Given the description of an element on the screen output the (x, y) to click on. 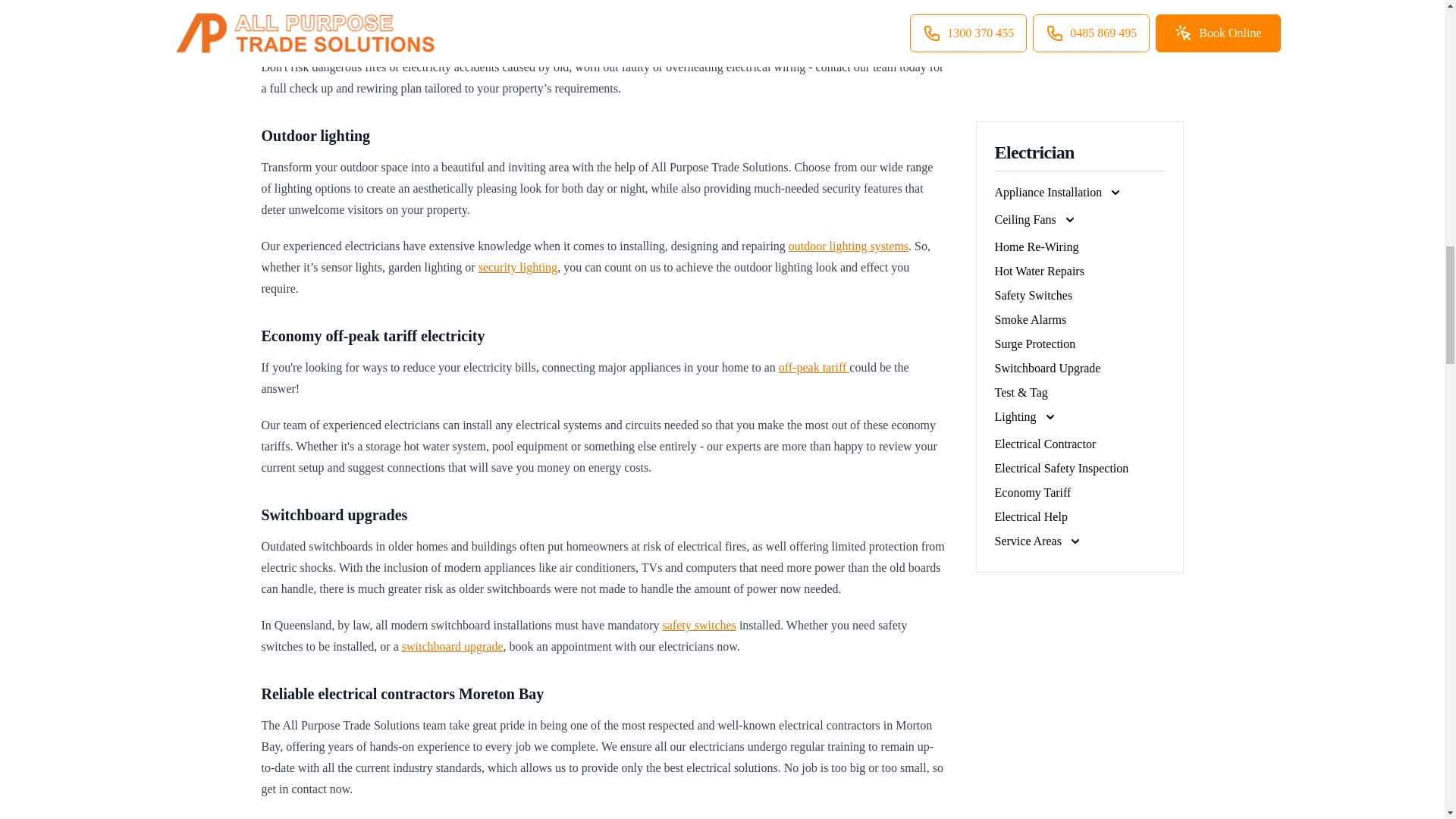
off-peak tariff (814, 367)
security lighting (518, 267)
electrical wiring (624, 9)
outdoor lighting systems (848, 245)
safety switches (699, 625)
